Given the description of an element on the screen output the (x, y) to click on. 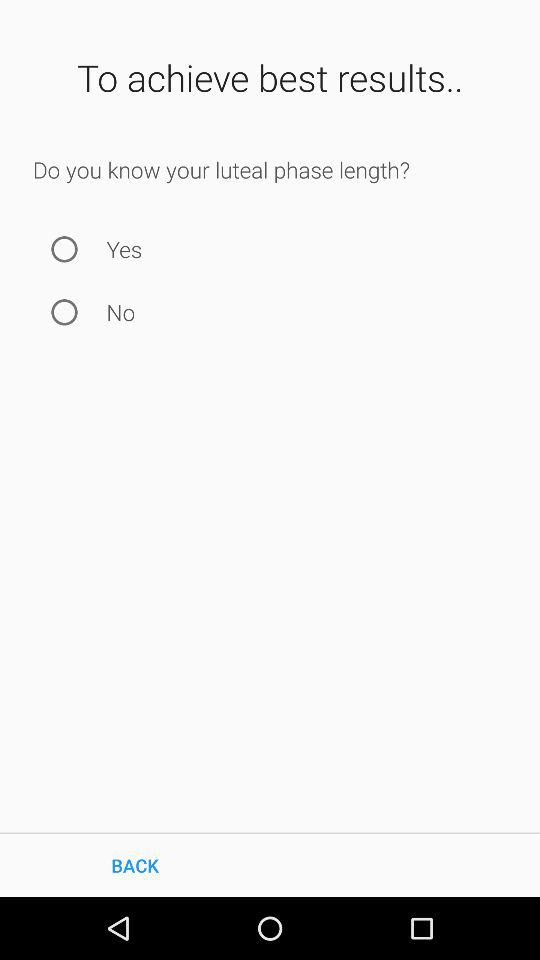
select no (64, 311)
